Given the description of an element on the screen output the (x, y) to click on. 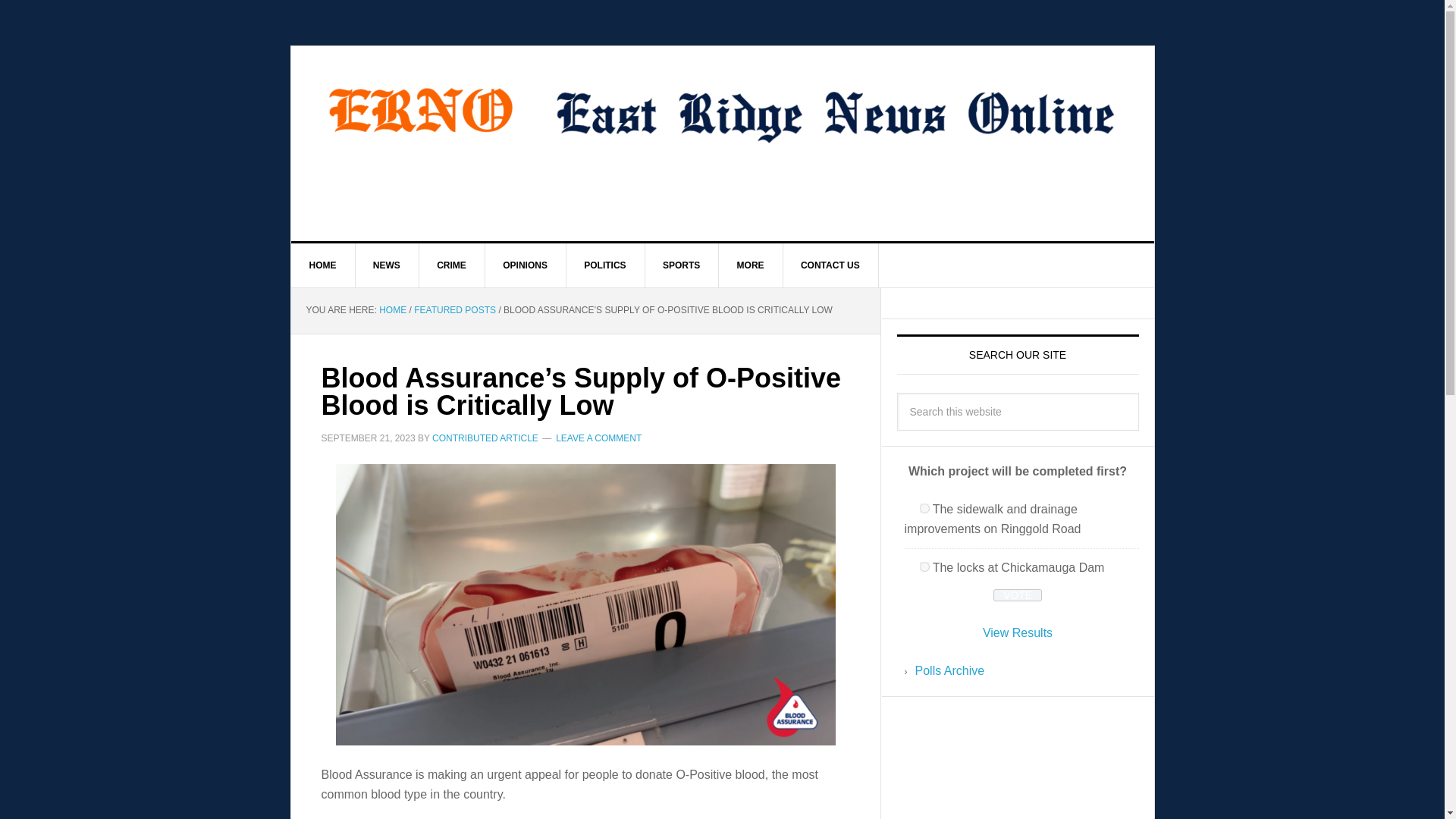
EAST RIDGE NEWS ONLINE (419, 110)
MORE (751, 265)
Polls Archive (949, 670)
   Vote    (1016, 594)
Advertisement (1017, 765)
View Results (1017, 632)
Posts by Contributed Article (485, 438)
306 (923, 508)
307 (923, 566)
POLITICS (605, 265)
HOME (323, 265)
HOME (392, 309)
